Given the description of an element on the screen output the (x, y) to click on. 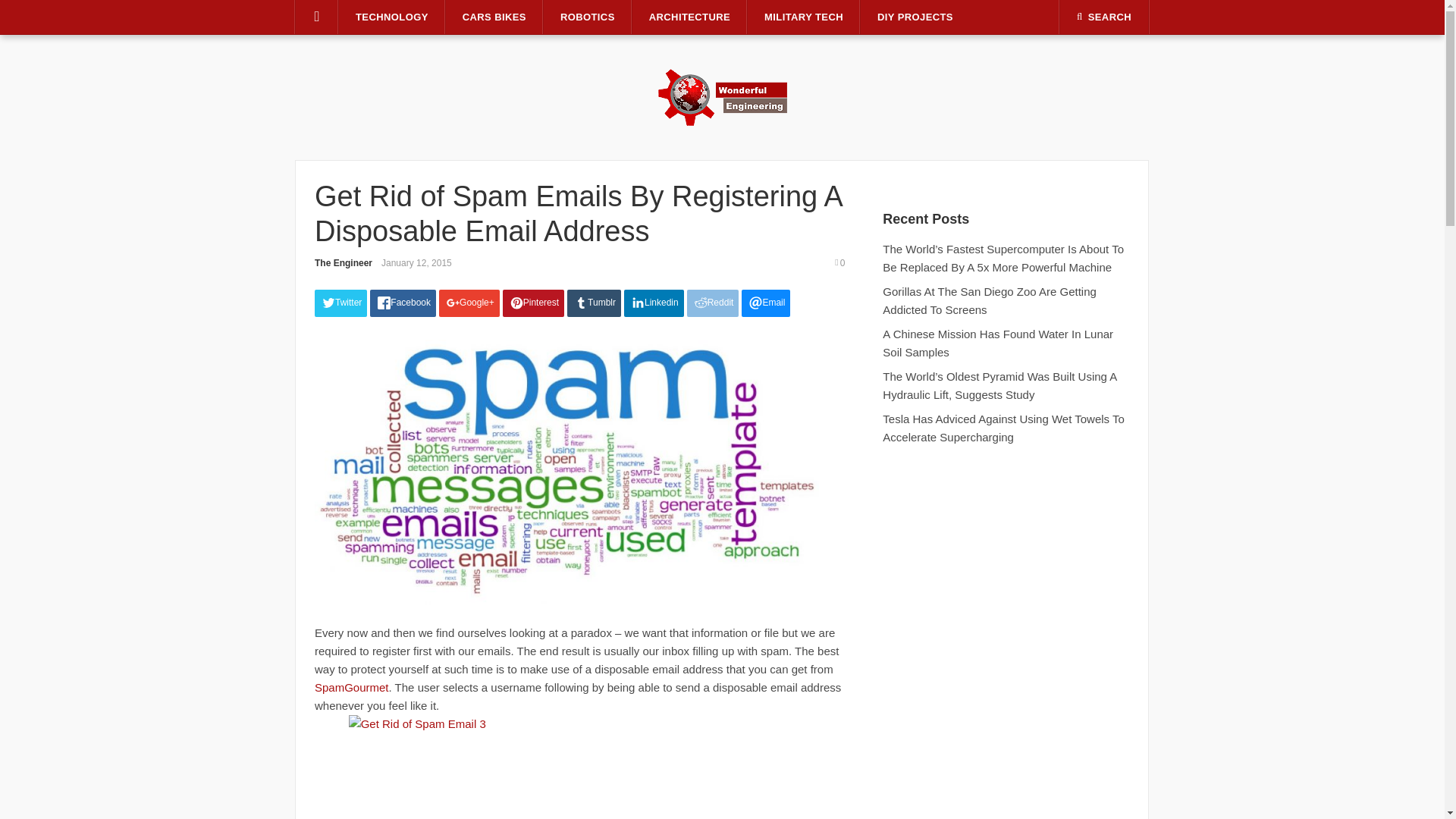
SEARCH (1104, 16)
Email (765, 302)
Reddit (713, 302)
ARCHITECTURE (688, 17)
Facebook (402, 302)
MILITARY TECH (804, 17)
Linkedin (654, 302)
SpamGourmet (351, 686)
DIY PROJECTS (914, 17)
Twitter (340, 302)
The Engineer (343, 262)
ROBOTICS (587, 17)
CARS BIKES (494, 17)
Pinterest (533, 302)
Wonderful Engineering (722, 95)
